Given the description of an element on the screen output the (x, y) to click on. 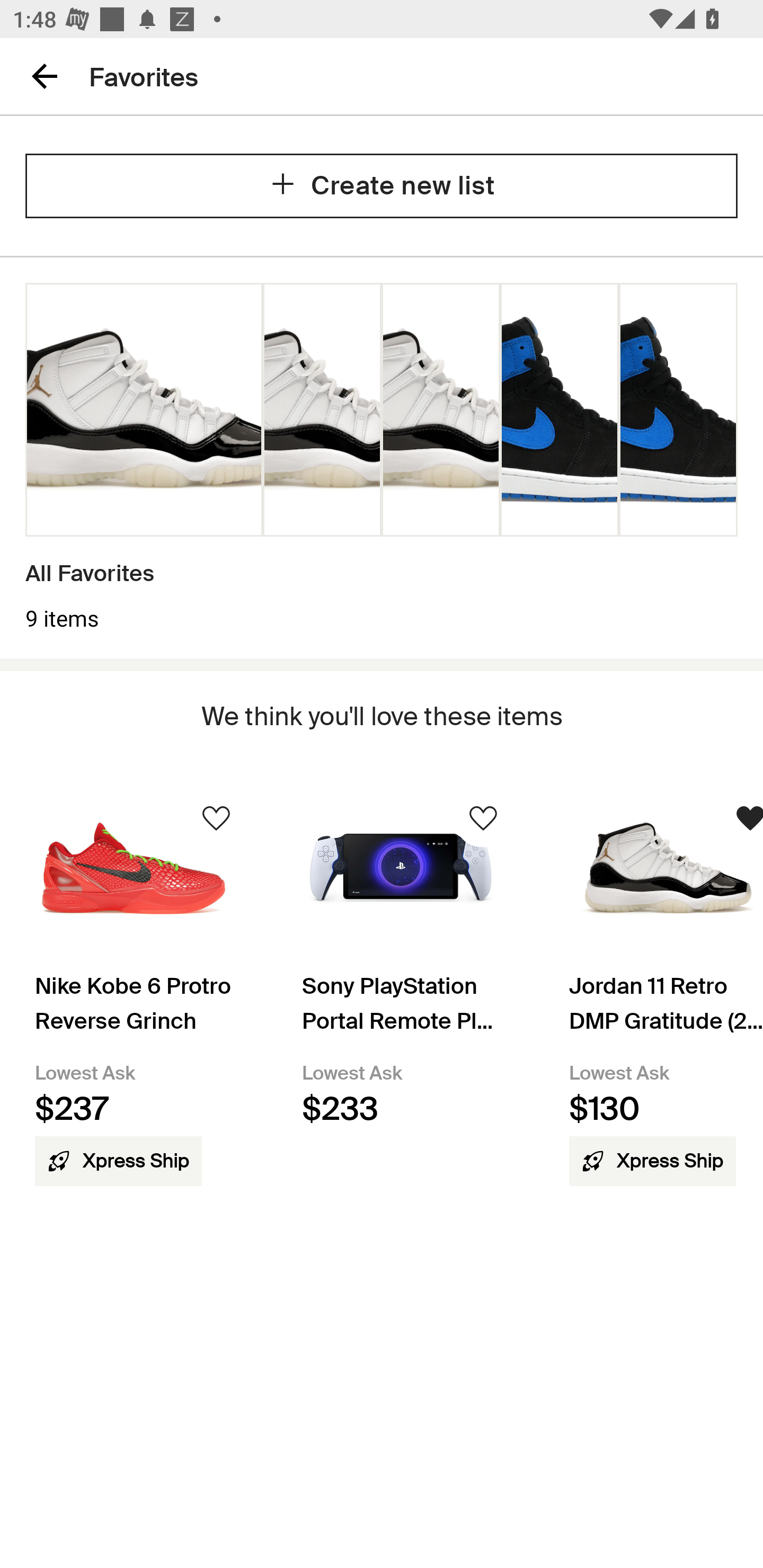
Create new list (381, 185)
All Favorites 9 items (381, 457)
